Given the description of an element on the screen output the (x, y) to click on. 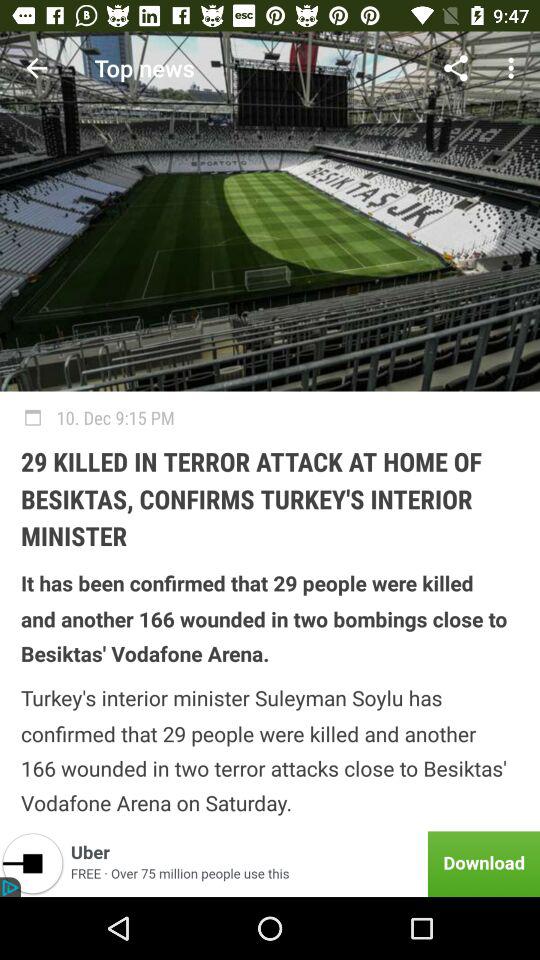
turn off the icon next to the top news (455, 67)
